Given the description of an element on the screen output the (x, y) to click on. 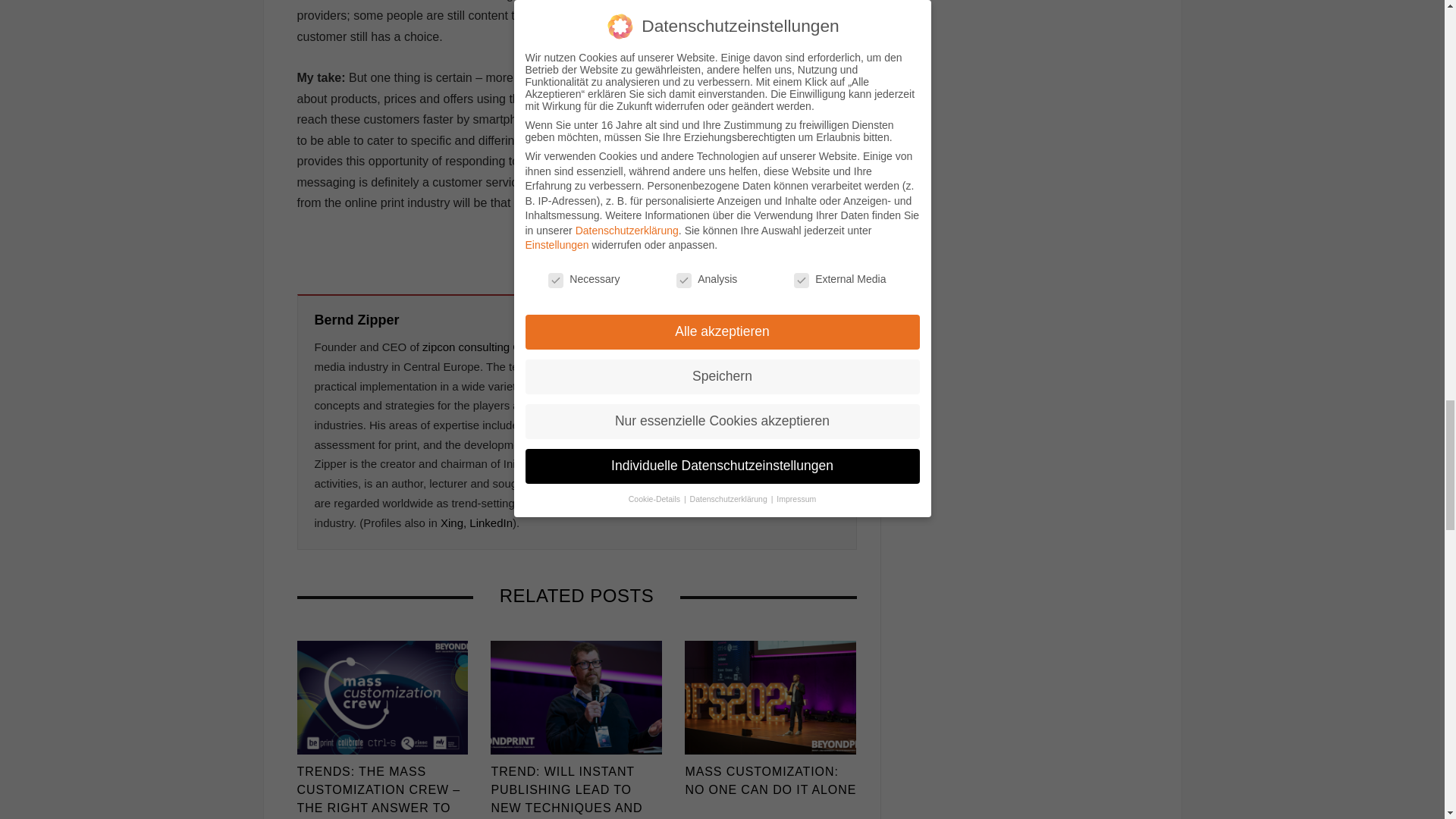
Bernd Zipper (356, 320)
Facebook (763, 248)
Posts by Bernd Zipper (356, 320)
more (839, 248)
LinkedIn (808, 248)
Xing, (453, 522)
zipcon consulting GmbH, (485, 346)
Mass customization: No one can do it alone (770, 697)
LinkedIn (490, 522)
Twitter (786, 248)
MASS CUSTOMIZATION: NO ONE CAN DO IT ALONE (770, 780)
